Given the description of an element on the screen output the (x, y) to click on. 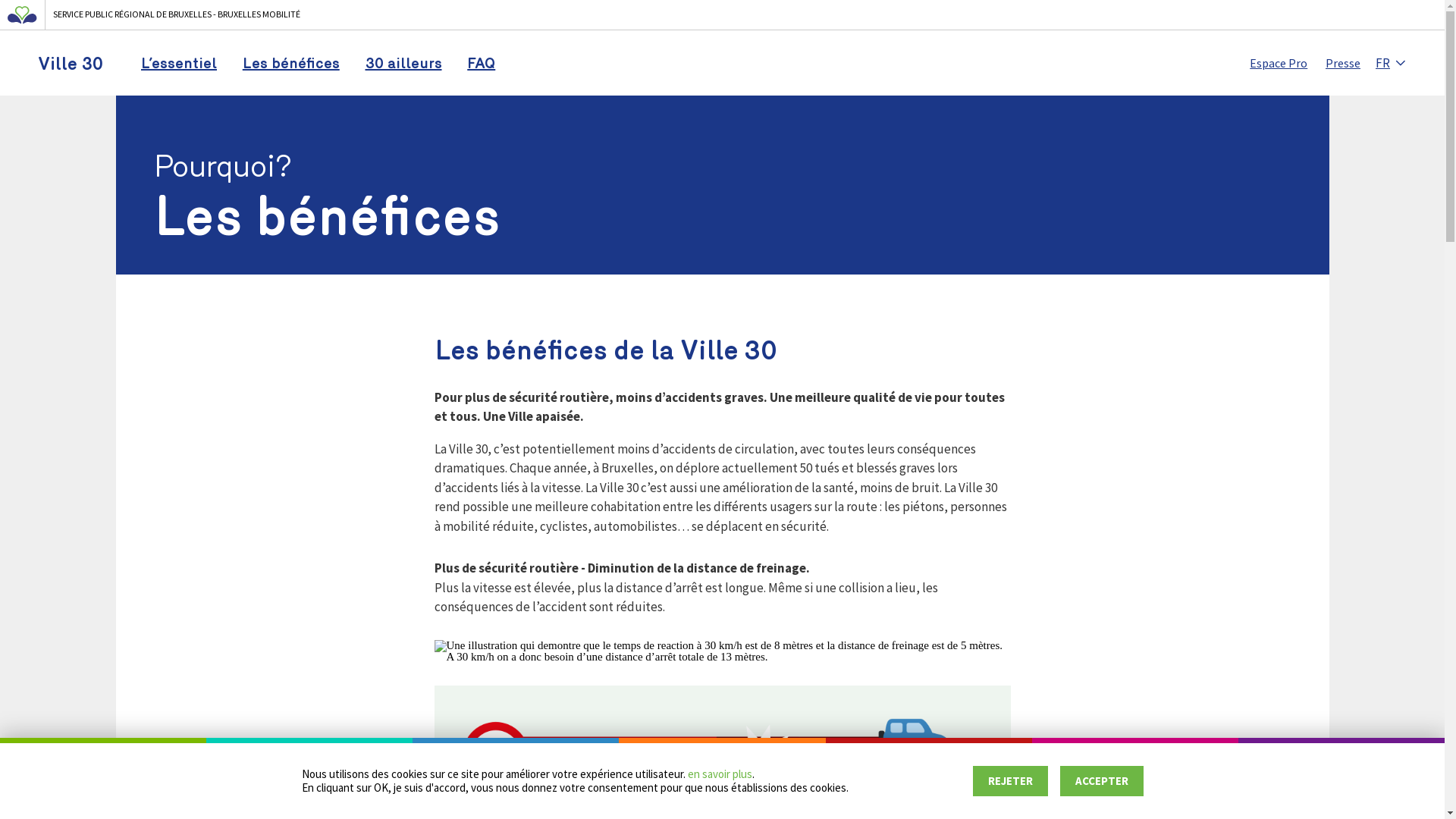
en savoir plus Element type: text (719, 774)
ACCEPTER Element type: text (1101, 780)
Ville 30 Element type: text (70, 62)
REJETER Element type: text (1010, 780)
Presse Element type: text (1342, 62)
FAQ Element type: text (481, 62)
Espace Pro Element type: text (1278, 62)
30 ailleurs Element type: text (403, 62)
FR Element type: text (1390, 62)
